Given the description of an element on the screen output the (x, y) to click on. 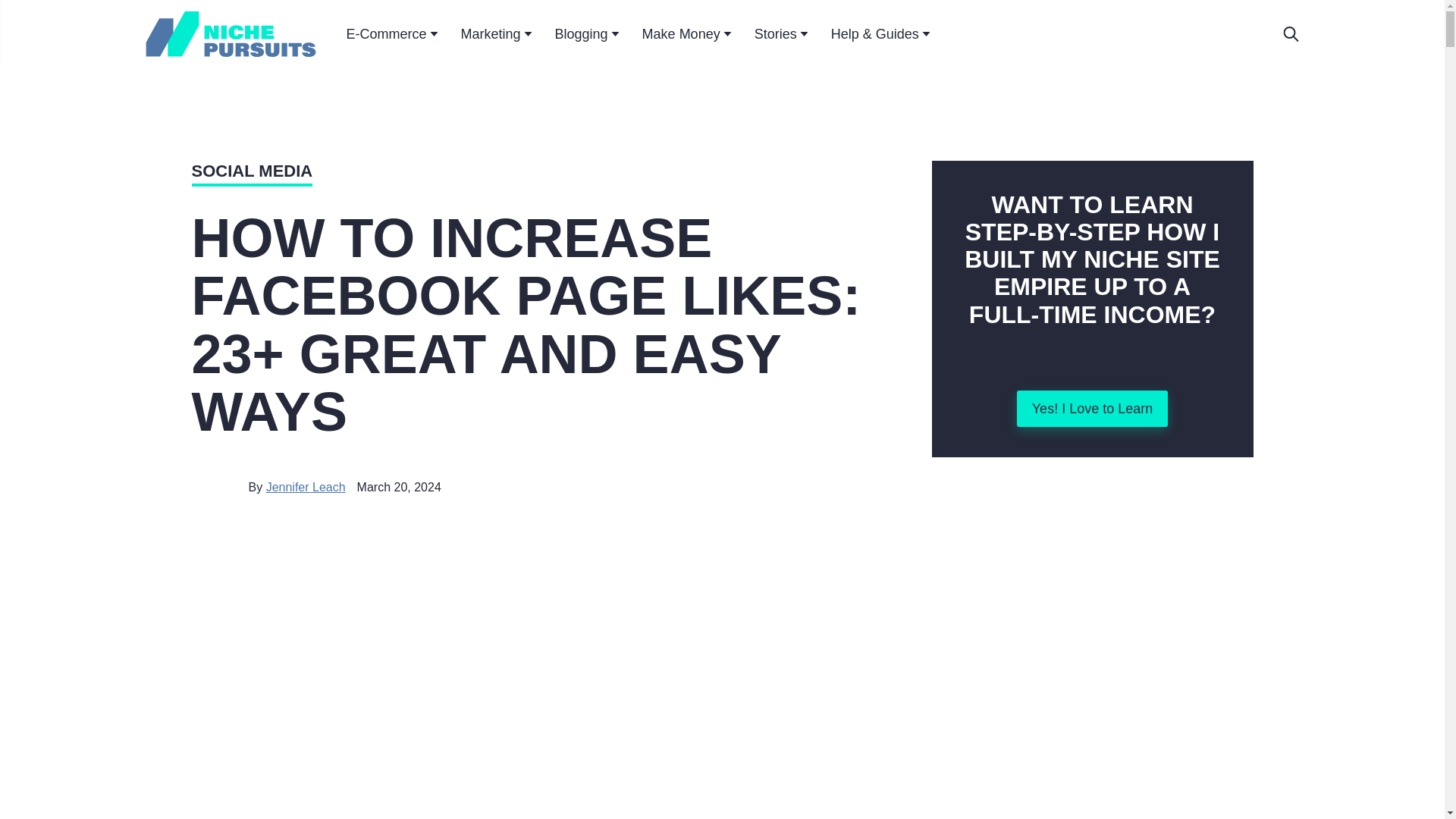
SOCIAL MEDIA (251, 172)
Jennifer Leach (306, 486)
